Given the description of an element on the screen output the (x, y) to click on. 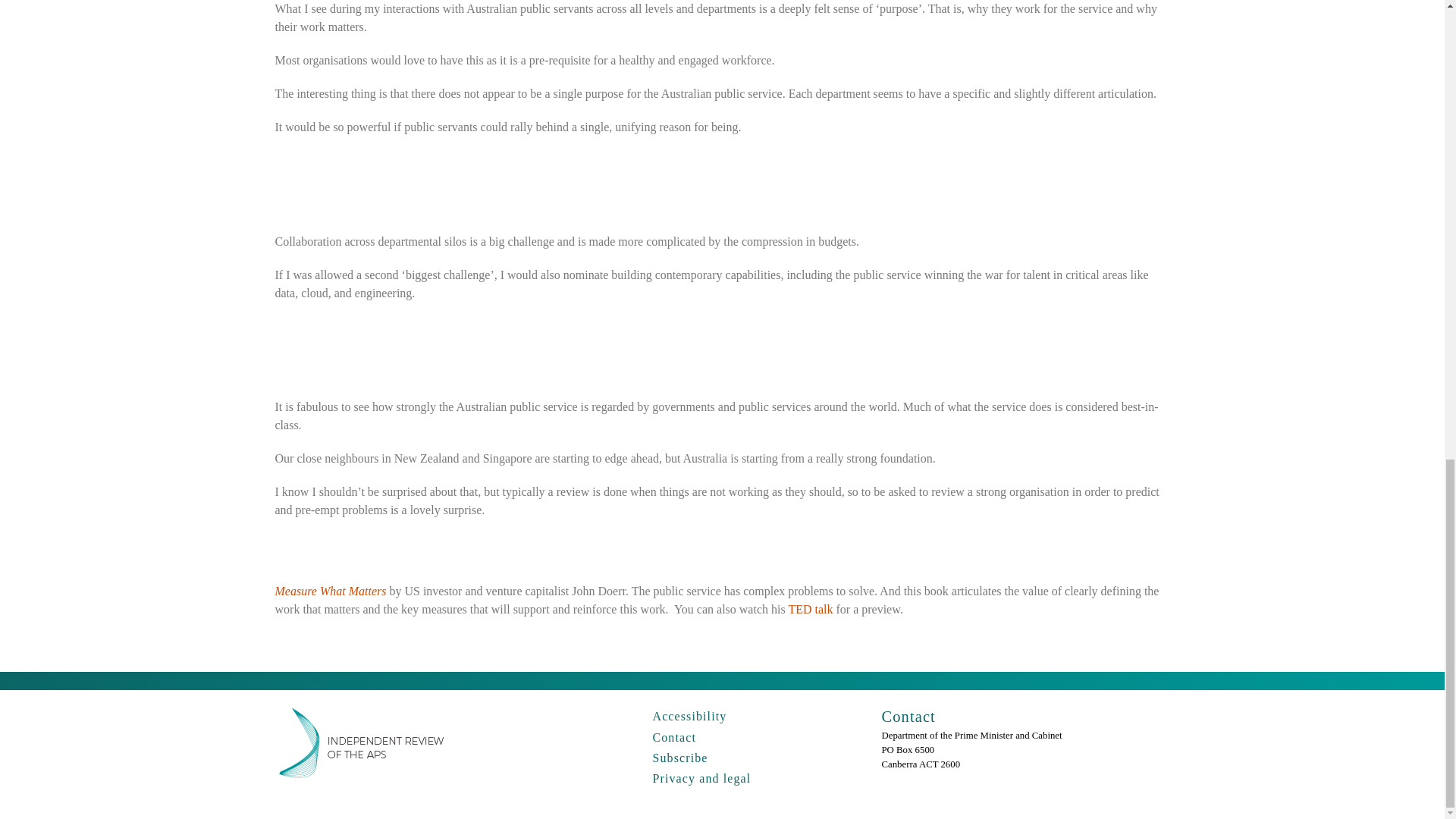
Accessibility (689, 716)
Privacy and legal (701, 778)
TED talk (809, 608)
Measure What Matters (330, 590)
Subscribe (679, 757)
Contact (673, 737)
